Given the description of an element on the screen output the (x, y) to click on. 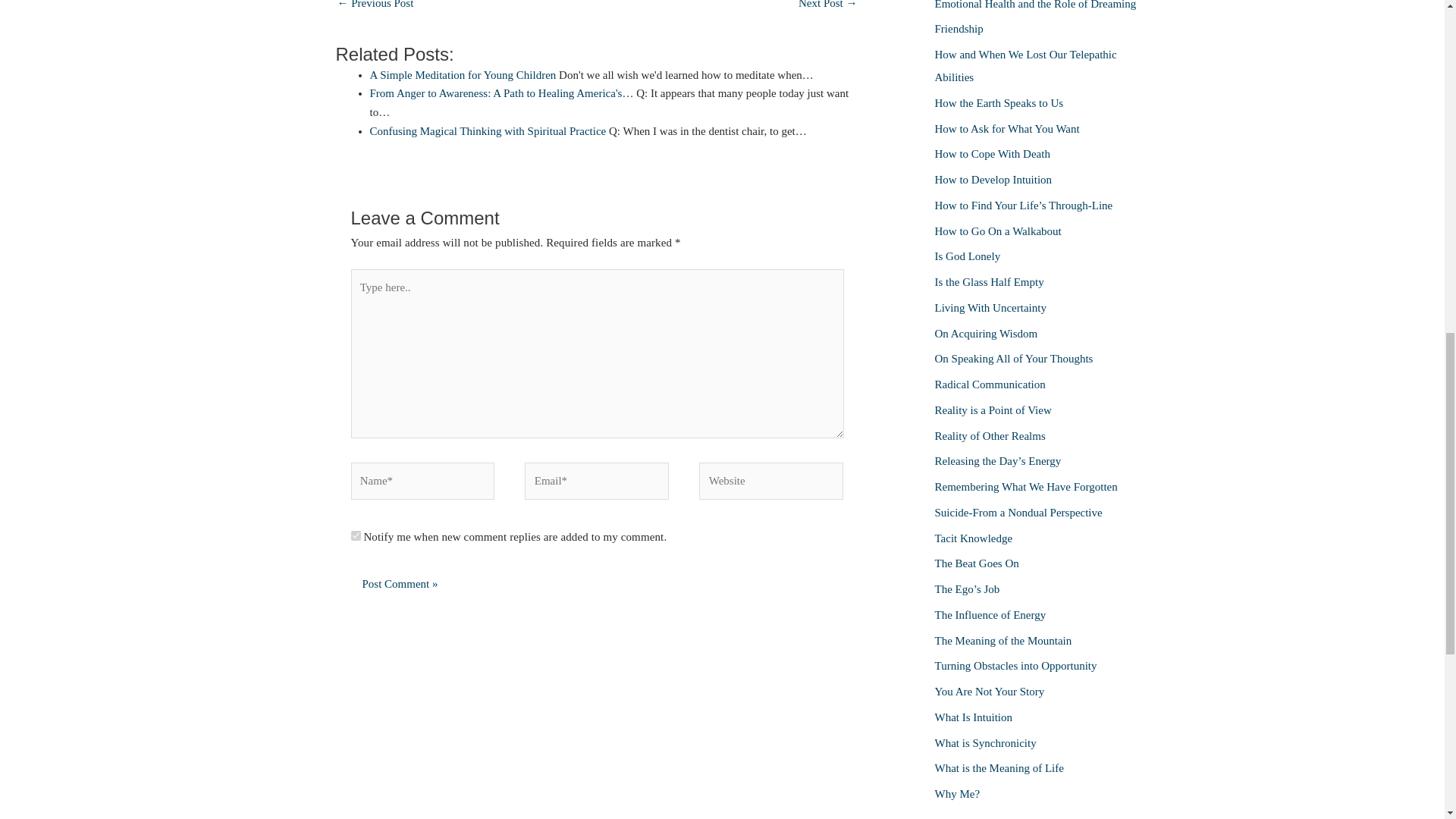
Best White Noise Machine (374, 9)
Signs that the Puppy Hunger isn't Abating (827, 9)
1 (354, 535)
